Given the description of an element on the screen output the (x, y) to click on. 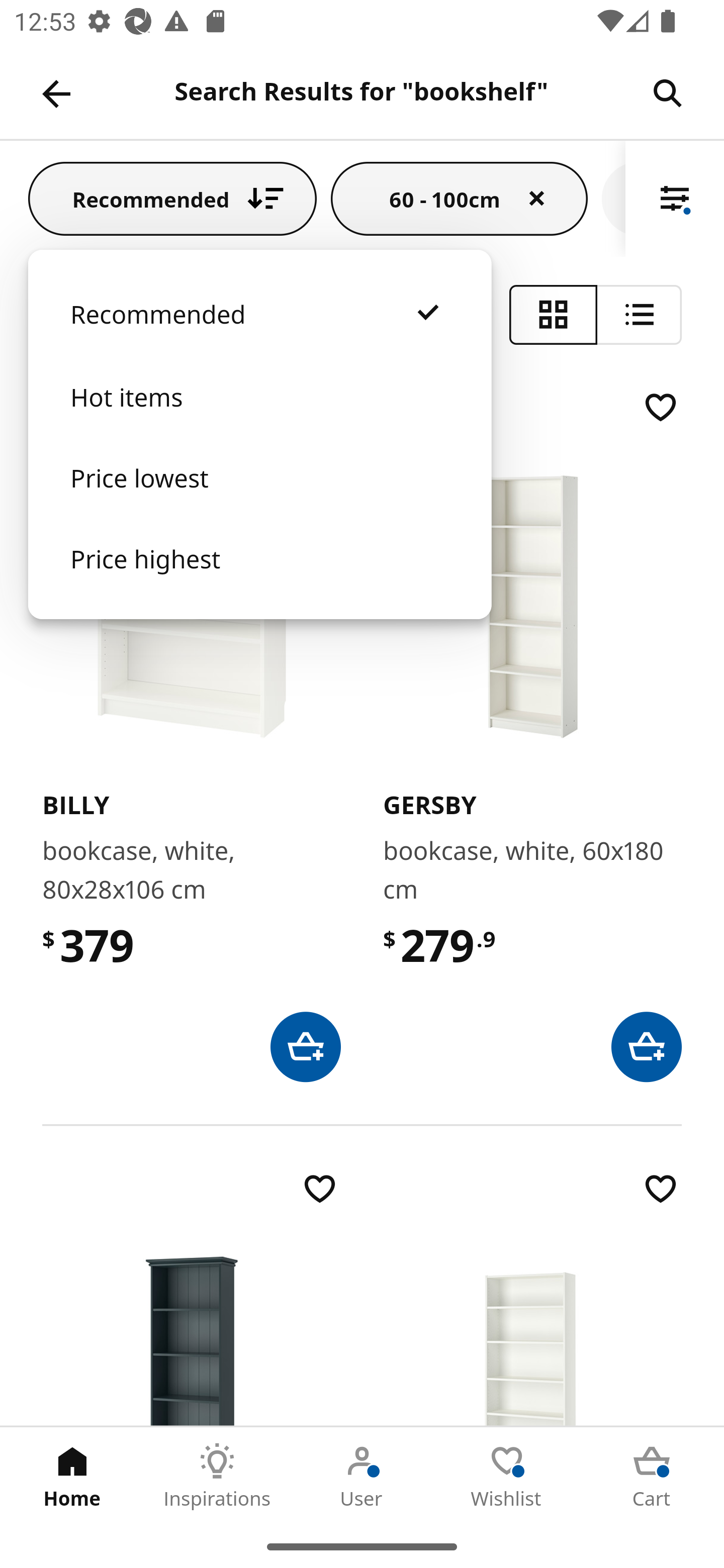
Recommended (172, 198)
60 - 100cm (458, 198)
Recommended (259, 333)
Hot items (259, 416)
​B​I​L​L​Y​
bookcase, white, 80x28x106 cm
$
379 (191, 734)
​G​E​R​S​B​Y​
bookcase, white, 60x180 cm
$
279
.9 (532, 734)
Price lowest (259, 497)
Price highest (259, 578)
Home
Tab 1 of 5 (72, 1476)
Inspirations
Tab 2 of 5 (216, 1476)
User
Tab 3 of 5 (361, 1476)
Wishlist
Tab 4 of 5 (506, 1476)
Cart
Tab 5 of 5 (651, 1476)
